Given the description of an element on the screen output the (x, y) to click on. 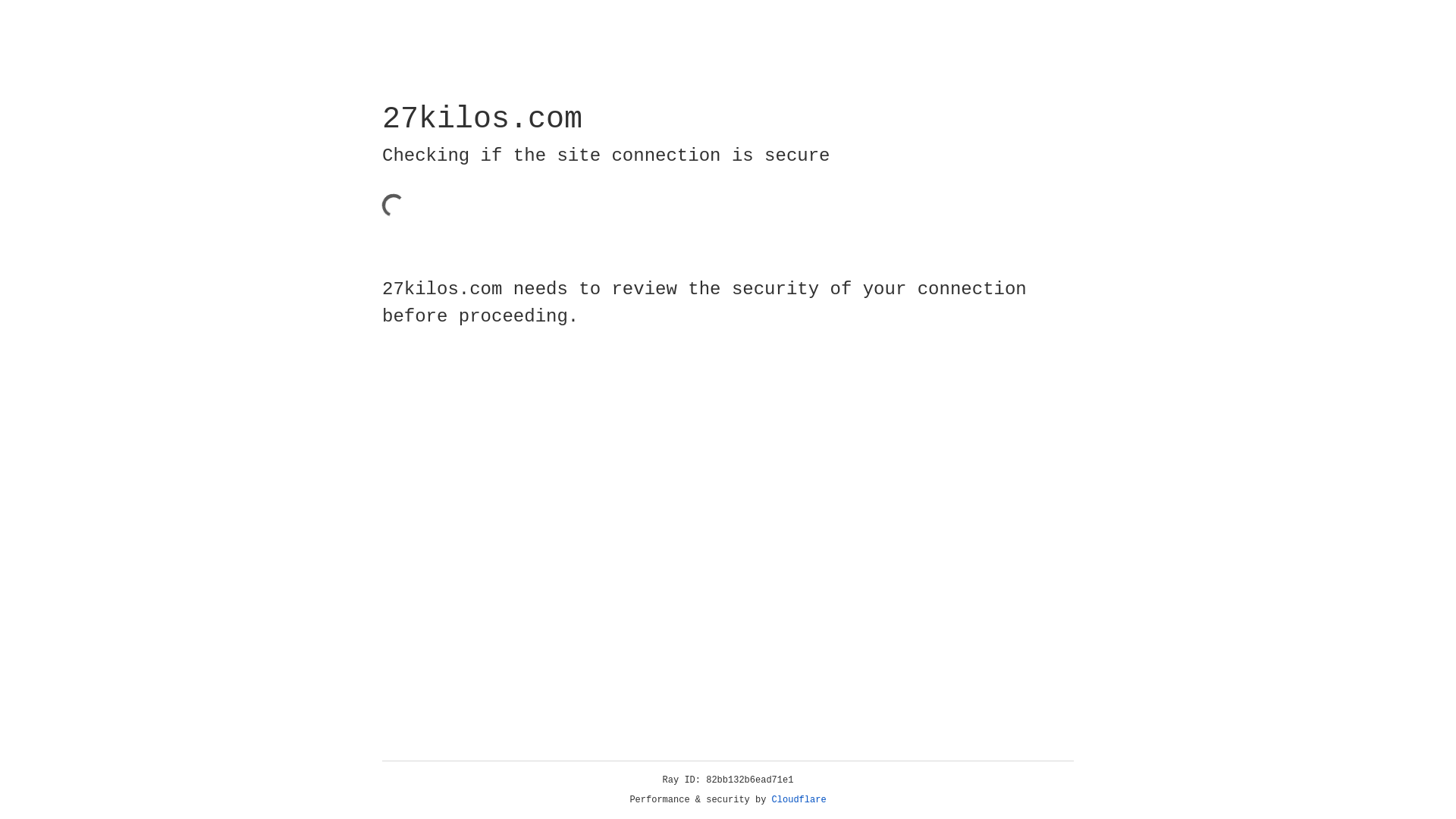
Cloudflare Element type: text (798, 799)
